Given the description of an element on the screen output the (x, y) to click on. 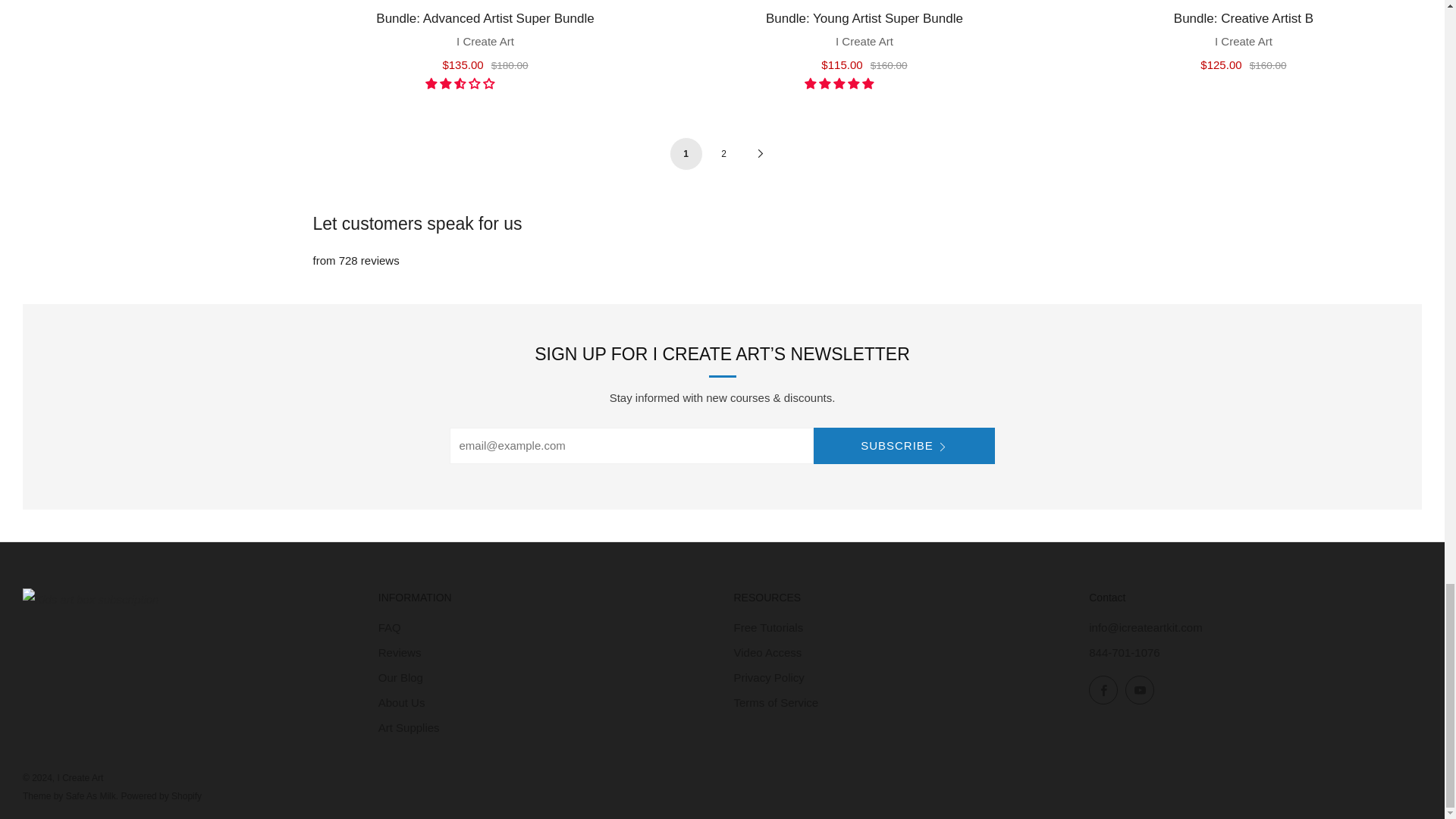
Bundle: Advanced Artist Super Bundle (485, 39)
Bundle: Creative Artist B (1243, 39)
Bundle: Young Artist Super Bundle (863, 39)
